Given the description of an element on the screen output the (x, y) to click on. 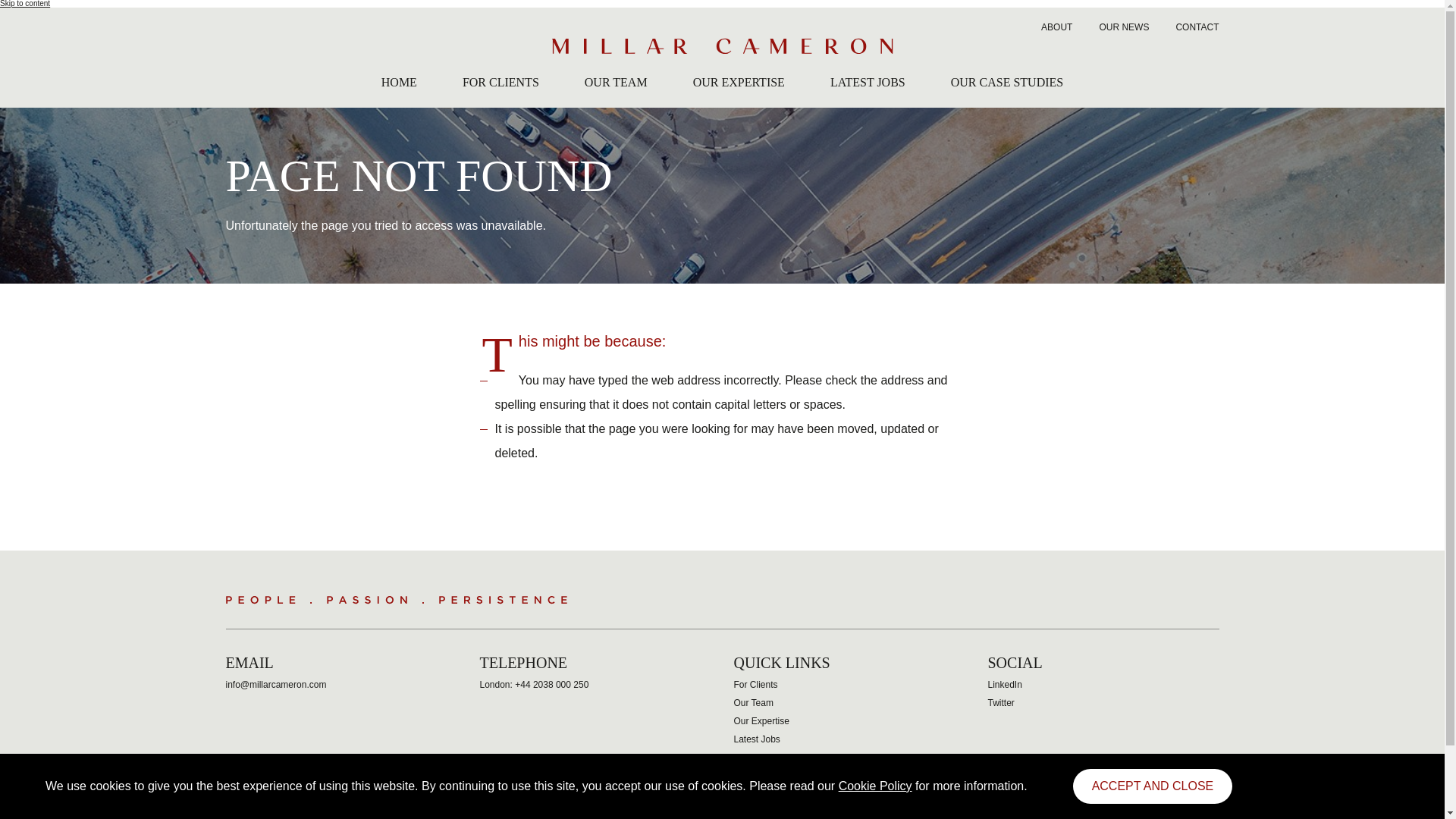
HOME (398, 84)
OUR NEWS (1123, 29)
Our Expertise (761, 720)
Latest Jobs (756, 738)
OUR TEAM (616, 84)
For Clients (755, 684)
ABOUT (1056, 29)
Contact (749, 757)
Skip to content (24, 3)
ACCEPT AND CLOSE (1153, 786)
Modern Slavery Statement (608, 816)
LATEST JOBS (867, 84)
OUR CASE STUDIES (1006, 84)
Our Team (753, 702)
FOR CLIENTS (500, 84)
